Given the description of an element on the screen output the (x, y) to click on. 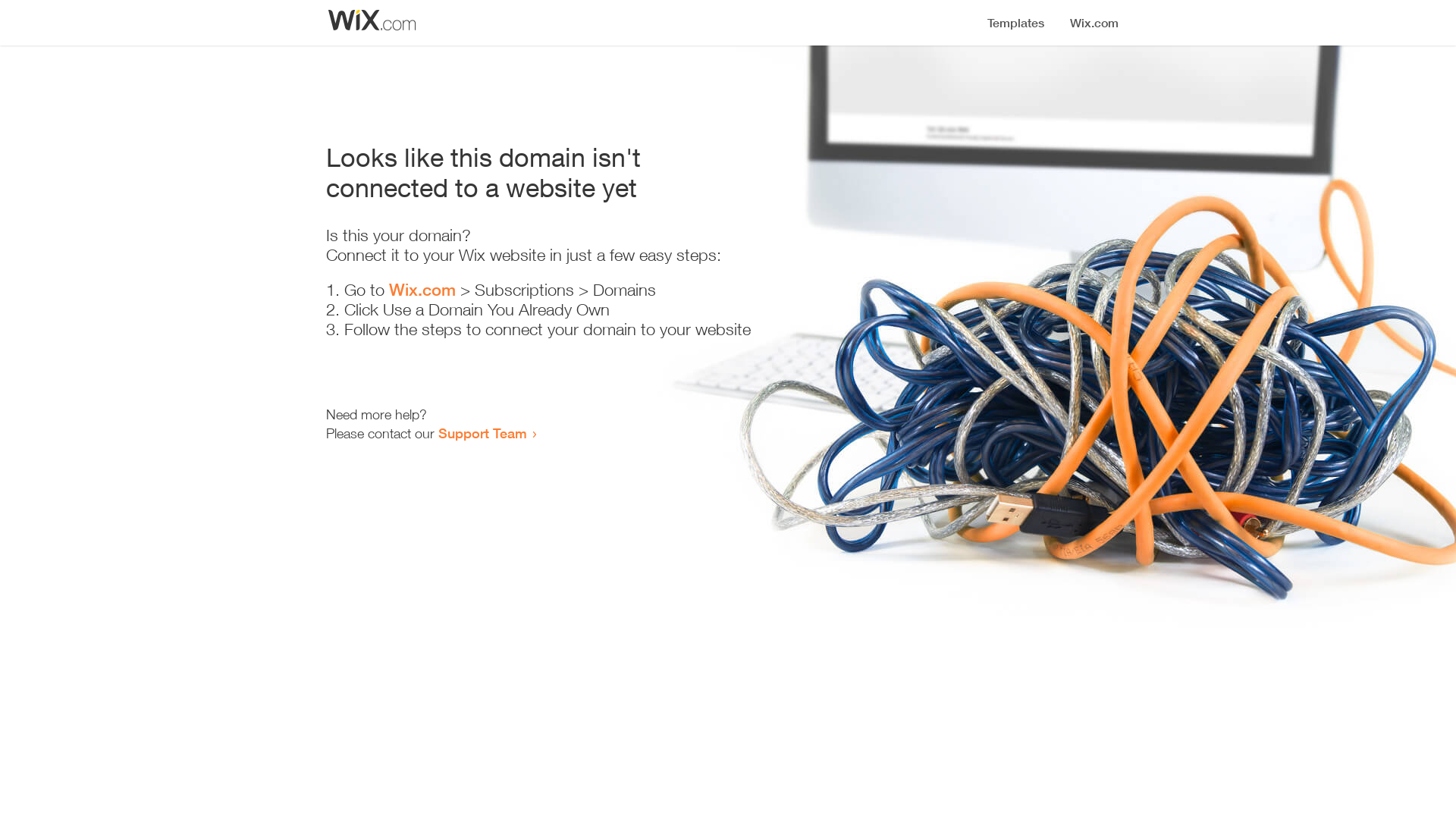
Support Team Element type: text (482, 432)
Wix.com Element type: text (422, 289)
